Given the description of an element on the screen output the (x, y) to click on. 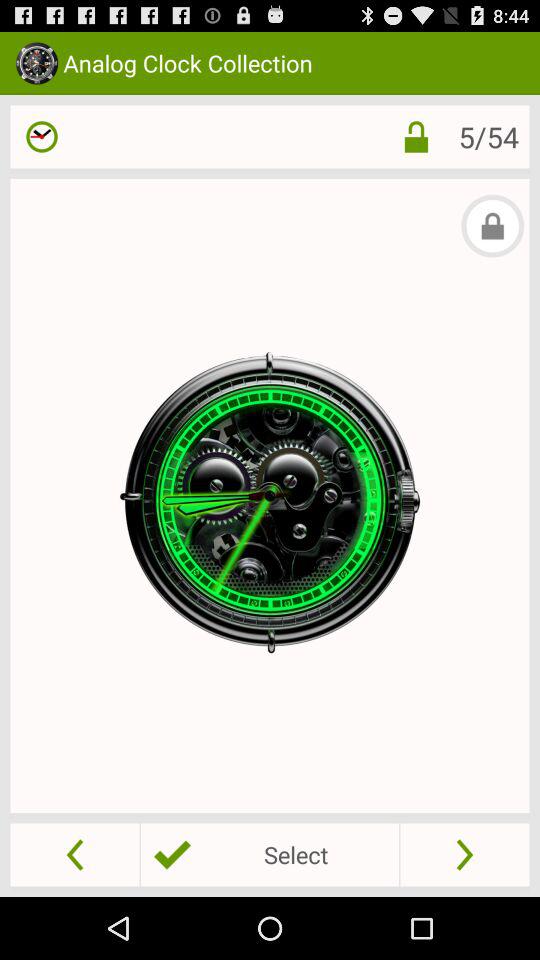
unlock (416, 136)
